Given the description of an element on the screen output the (x, y) to click on. 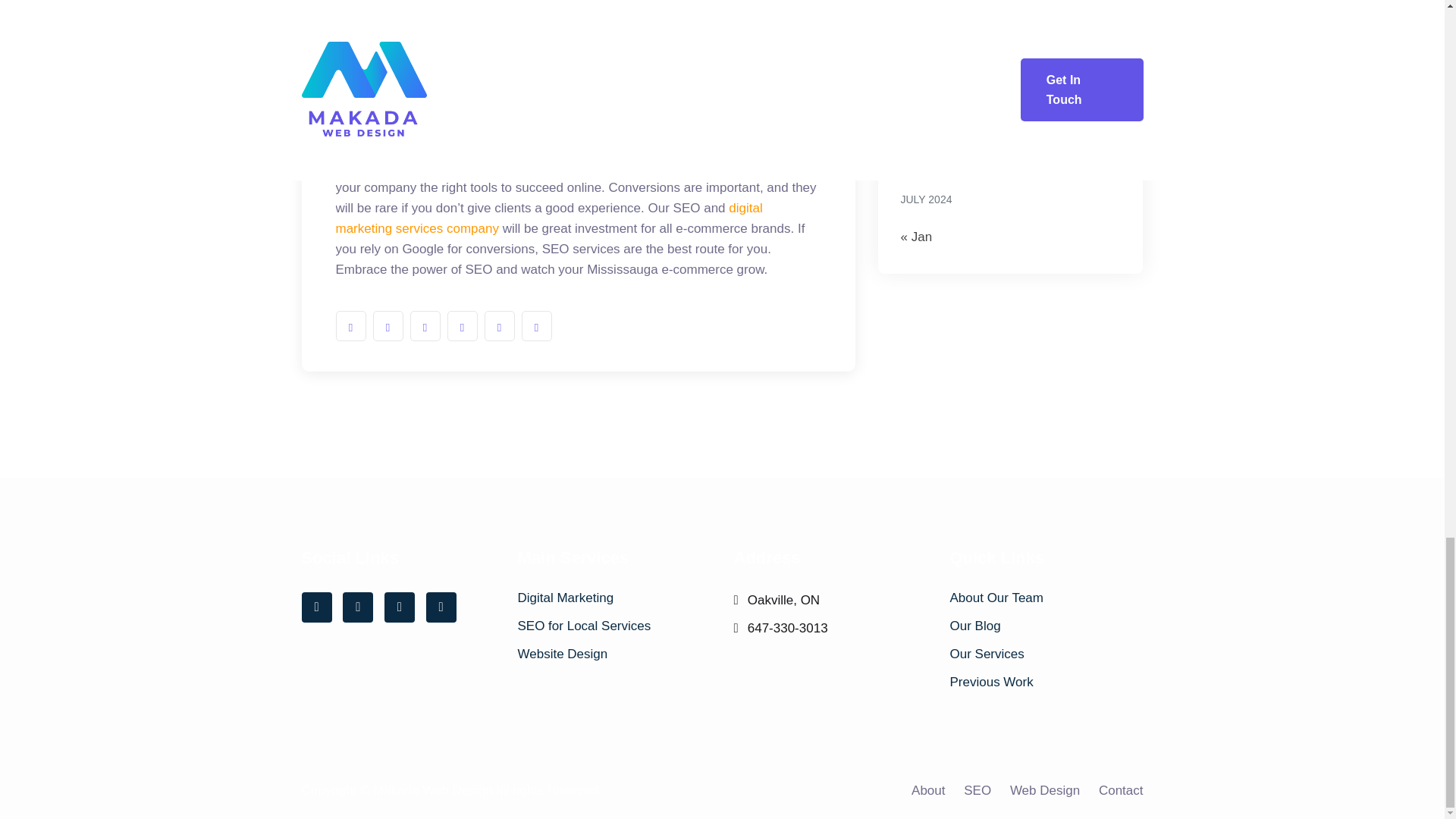
Twitter (357, 607)
Saturday (1072, 17)
Tuesday (946, 17)
Thursday (1010, 17)
Wednesday (978, 17)
Pinterest (441, 607)
Sunday (1104, 17)
digital marketing services company (547, 217)
Monday (916, 17)
Facebook (316, 607)
Linkedin (399, 607)
Friday (1041, 17)
